Given the description of an element on the screen output the (x, y) to click on. 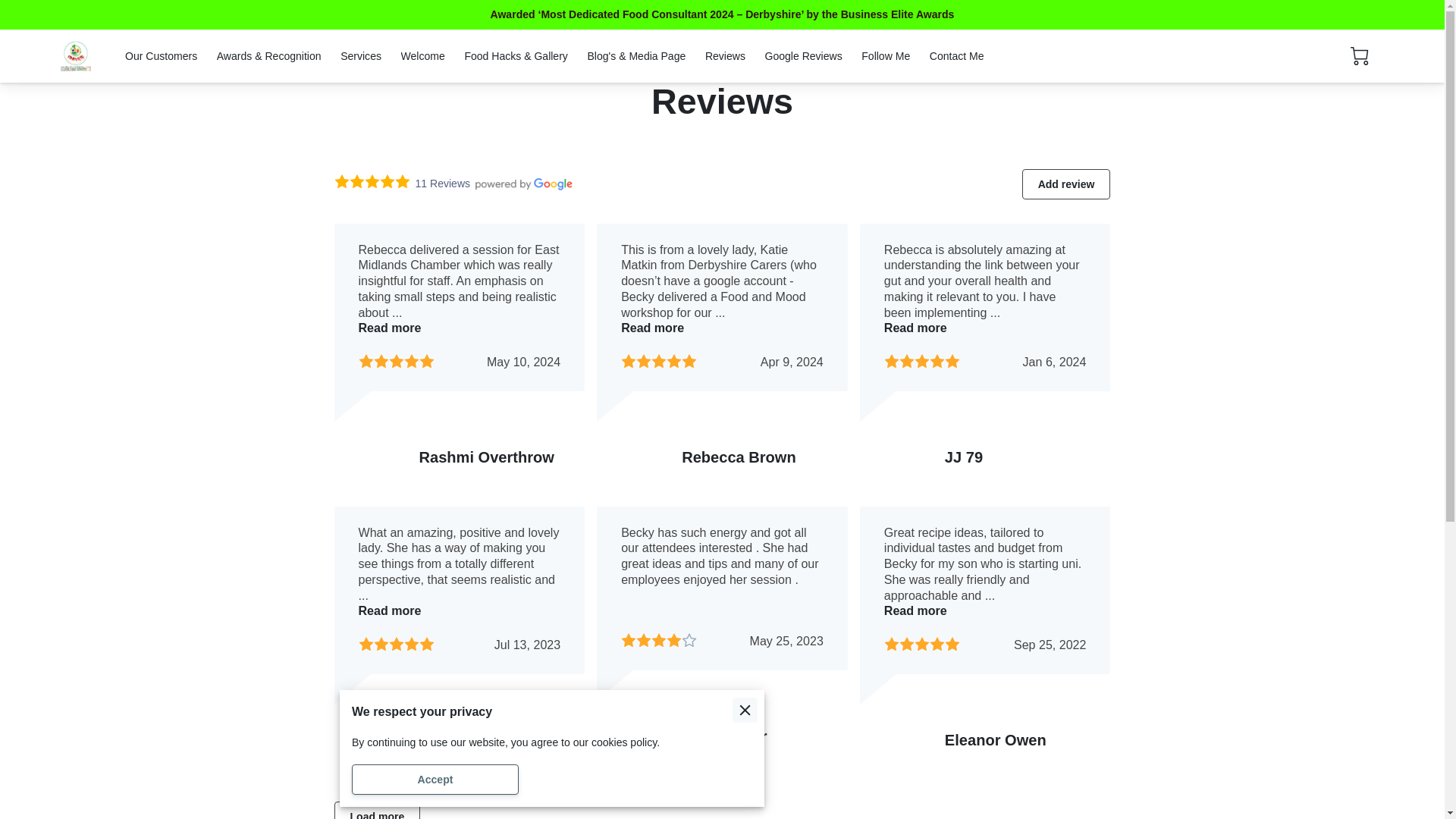
Accept (435, 779)
Follow Me (885, 56)
Our Customers (160, 56)
Add review (1066, 183)
Welcome (423, 56)
Contact Me (957, 56)
Google Reviews (802, 56)
Reviews (724, 56)
Services (360, 56)
0 (1359, 55)
